Given the description of an element on the screen output the (x, y) to click on. 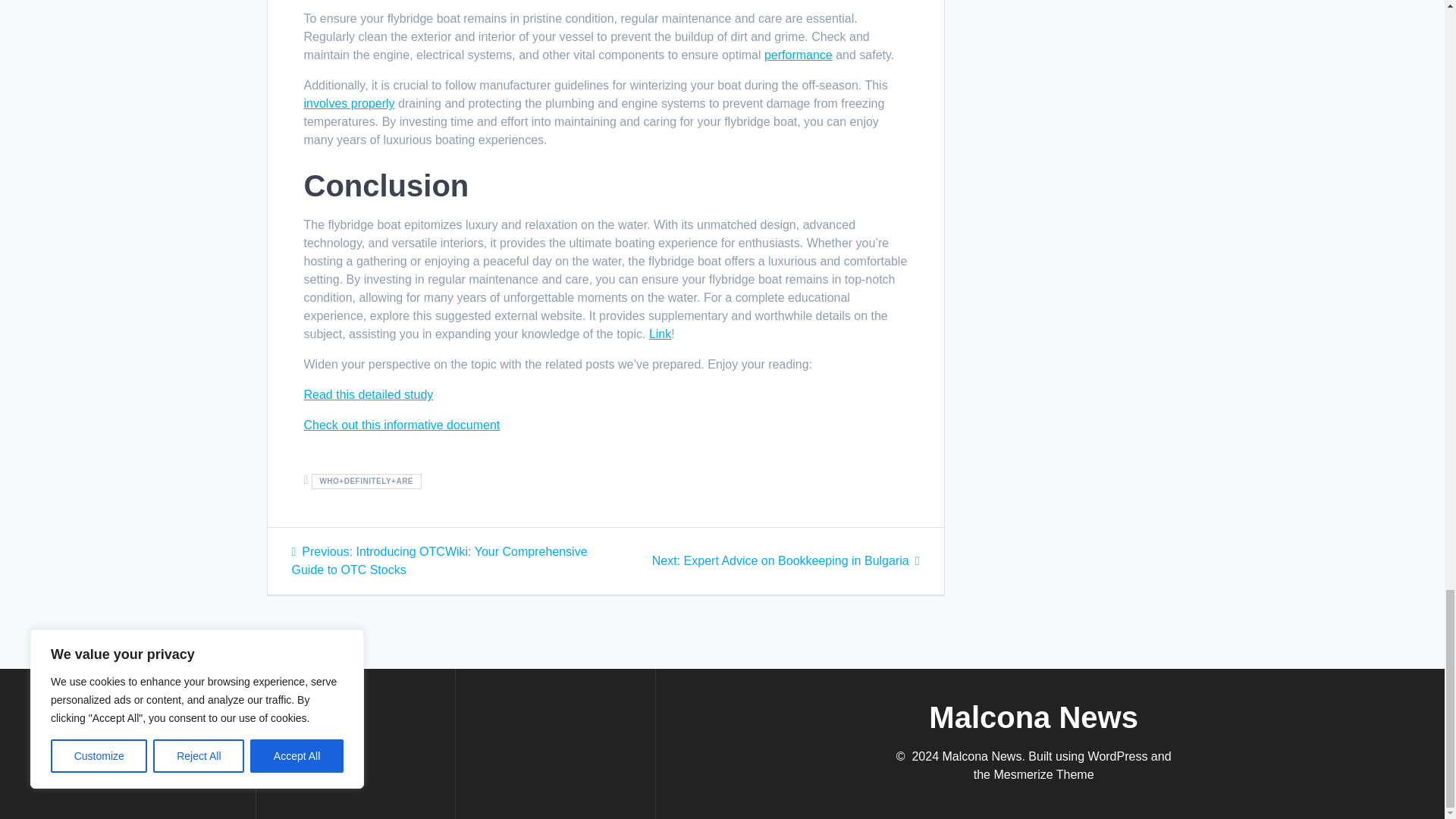
involves properly (348, 103)
Read this detailed study (367, 394)
Check out this informative document (400, 424)
Link (660, 333)
performance (786, 560)
